Given the description of an element on the screen output the (x, y) to click on. 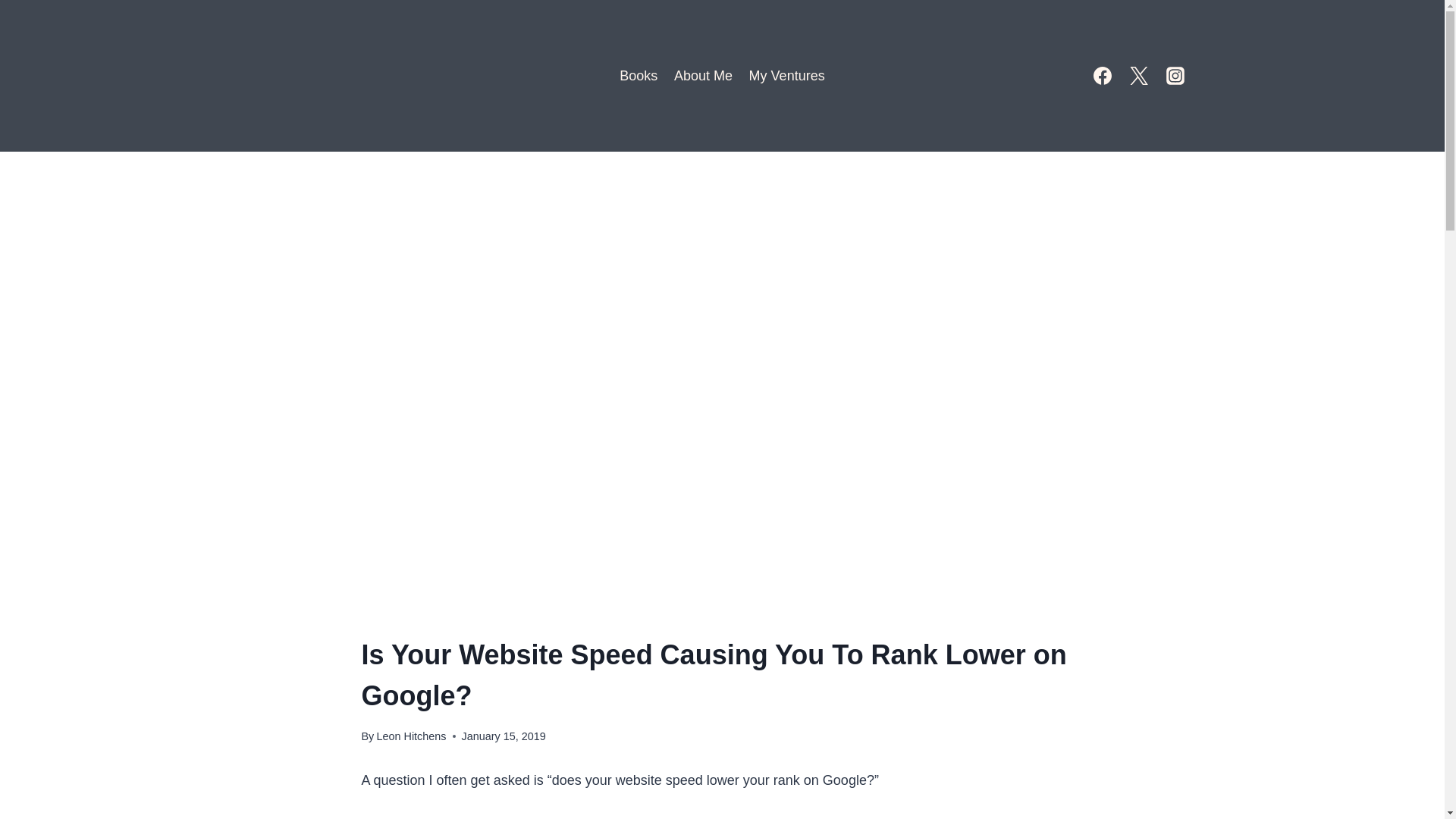
Leon Hitchens (410, 736)
Books (638, 75)
About Me (703, 75)
My Ventures (786, 75)
